Given the description of an element on the screen output the (x, y) to click on. 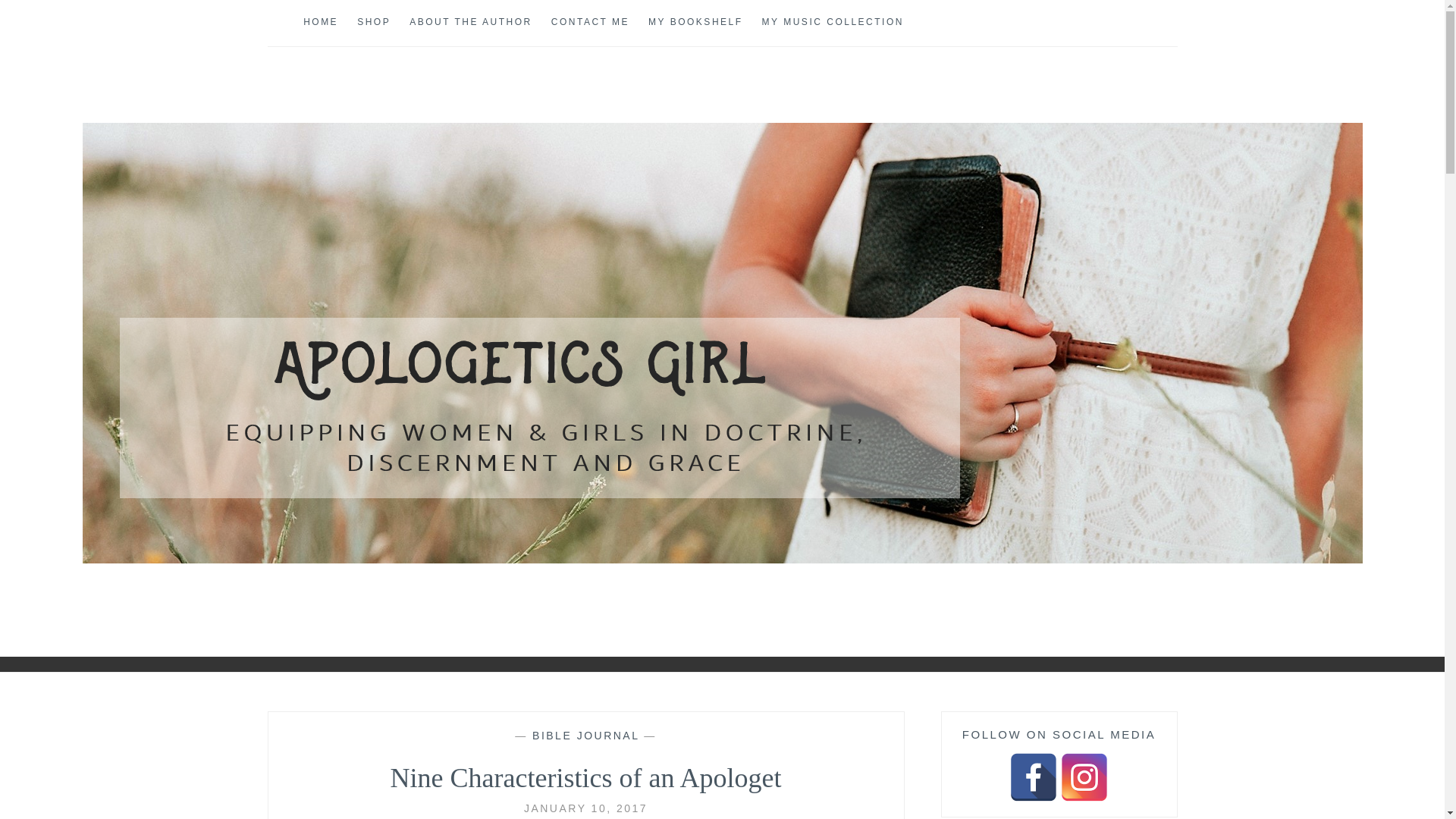
MY MUSIC COLLECTION (832, 22)
SHOP (373, 22)
Facebook (1033, 776)
BIBLE JOURNAL (585, 735)
Instagram (1083, 776)
CONTACT ME (589, 22)
HOME (319, 22)
ABOUT THE AUTHOR (470, 22)
Search (42, 19)
MY BOOKSHELF (694, 22)
